Given the description of an element on the screen output the (x, y) to click on. 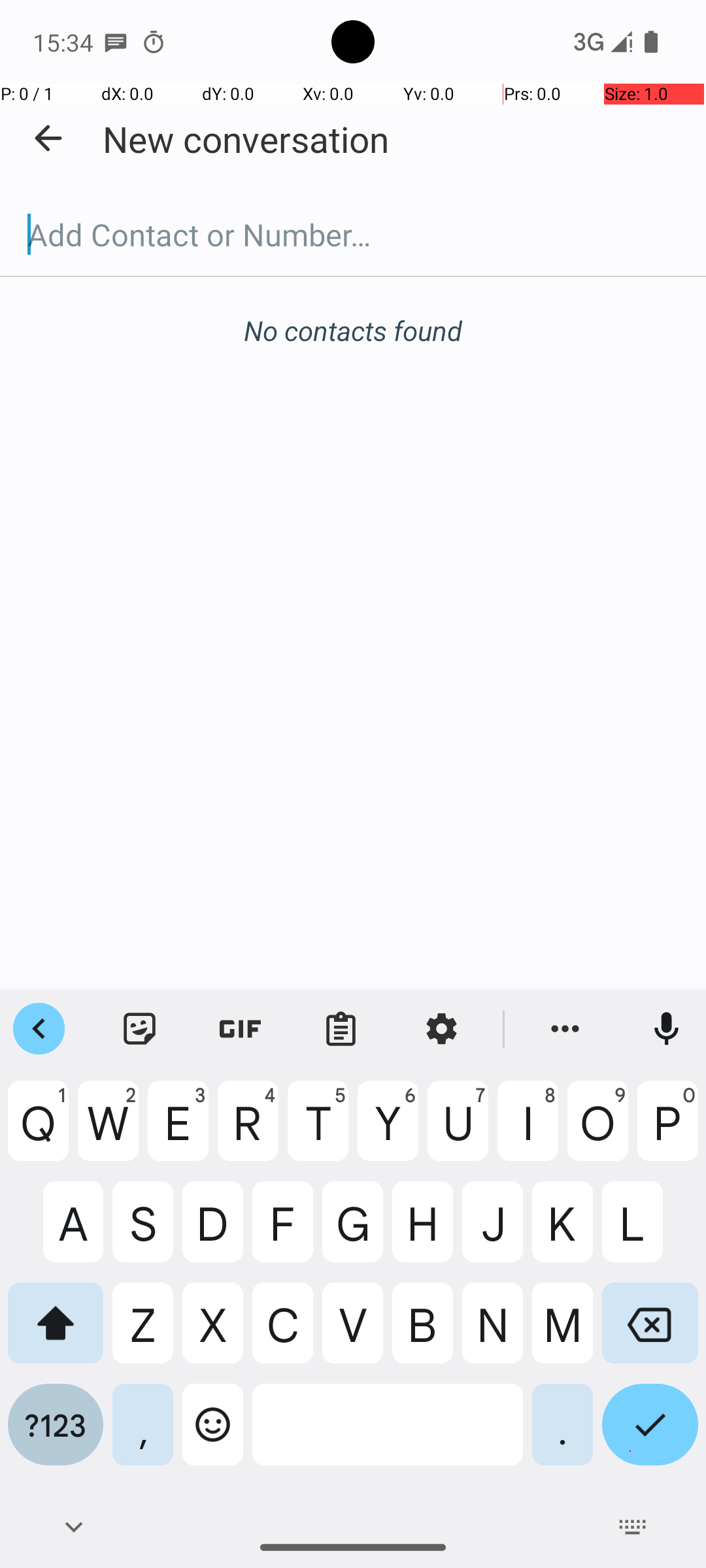
No contacts found Element type: android.widget.TextView (353, 329)
